Given the description of an element on the screen output the (x, y) to click on. 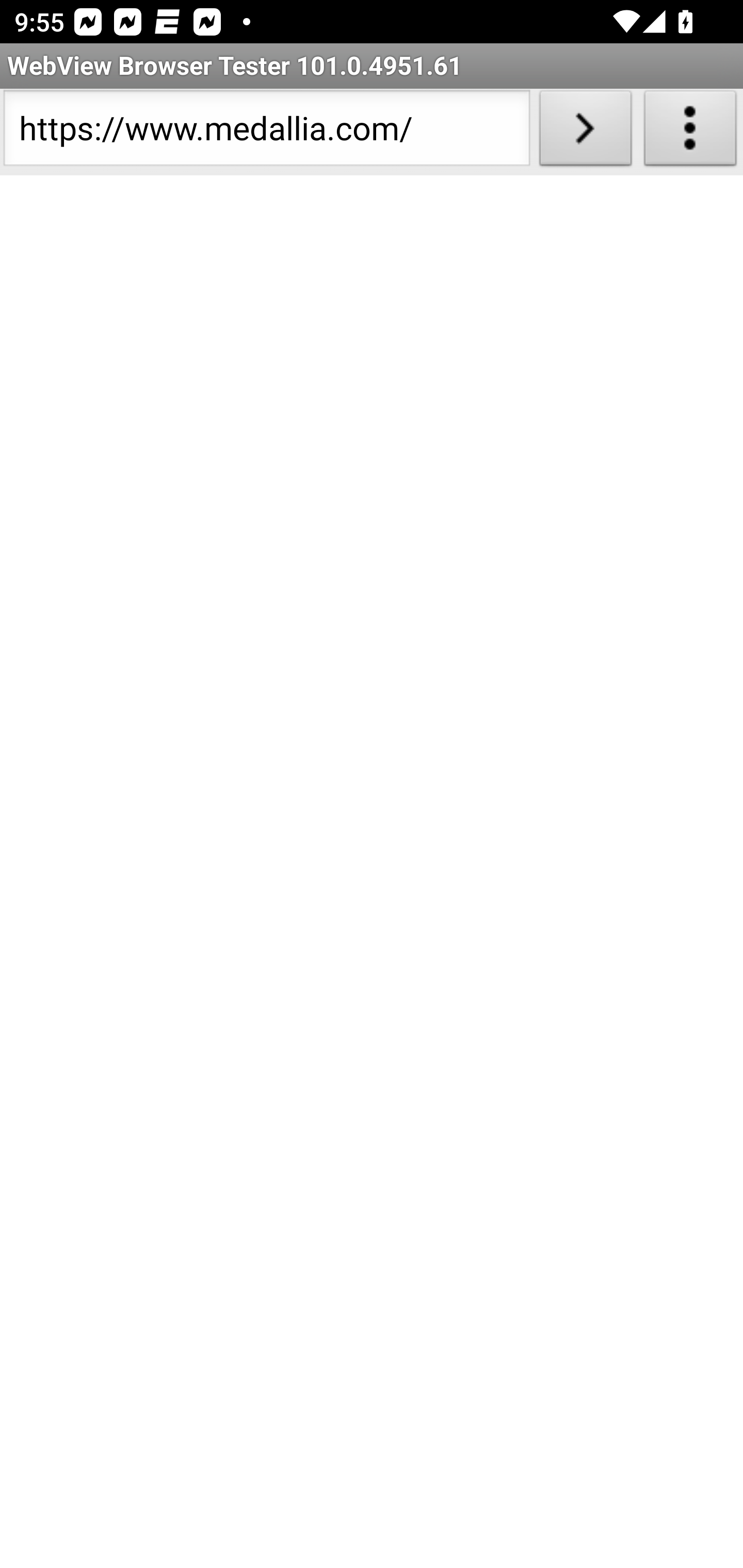
https://www.medallia.com/ (266, 132)
Load URL (585, 132)
About WebView (690, 132)
